Given the description of an element on the screen output the (x, y) to click on. 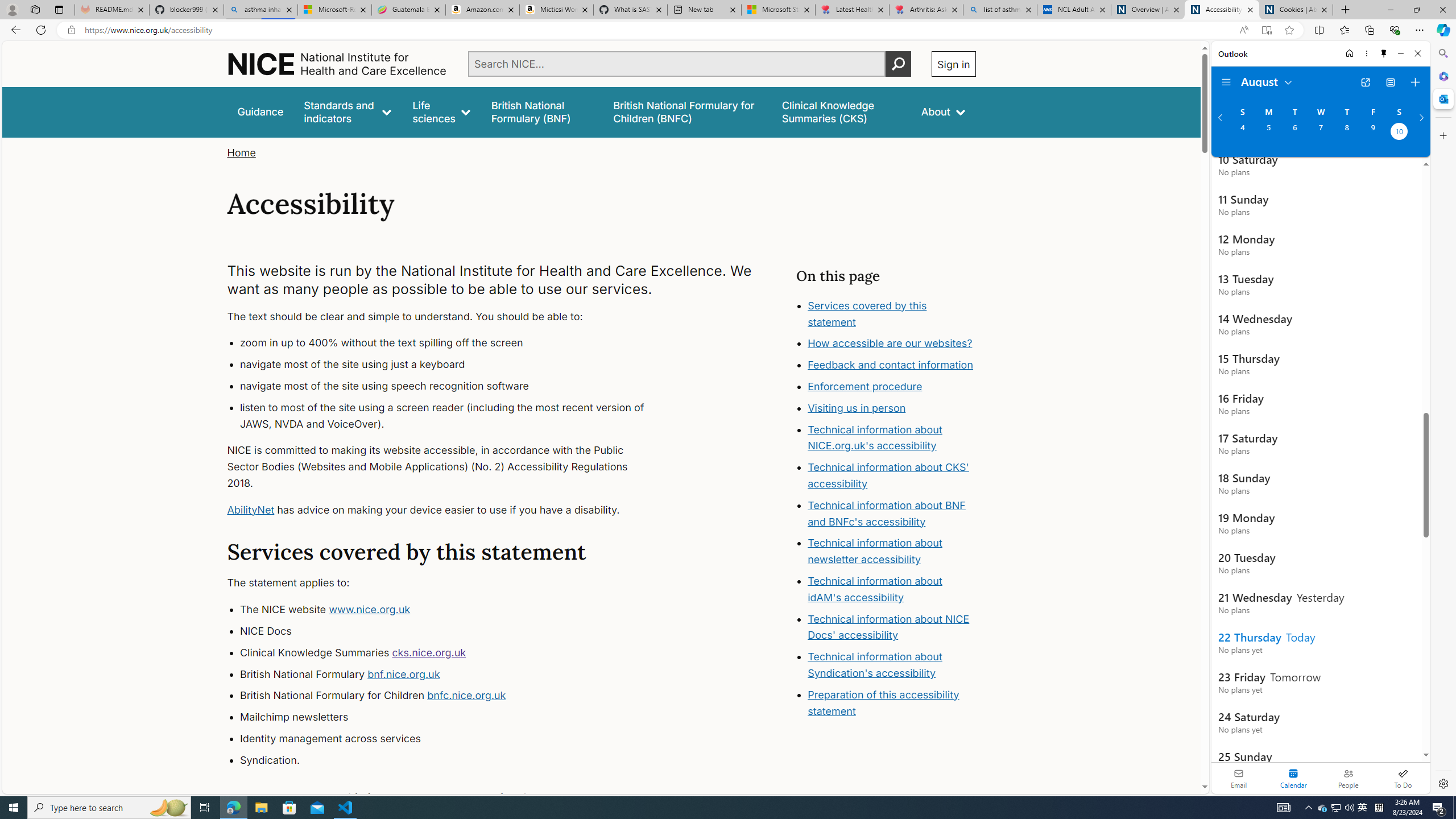
Friday, August 9, 2024.  (1372, 132)
asthma inhaler - Search (260, 9)
Enforcement procedure (865, 386)
Sign in (952, 63)
People (1347, 777)
Enter Immersive Reader (F9) (1266, 29)
Services covered by this statement (867, 313)
Guidance (260, 111)
